Given the description of an element on the screen output the (x, y) to click on. 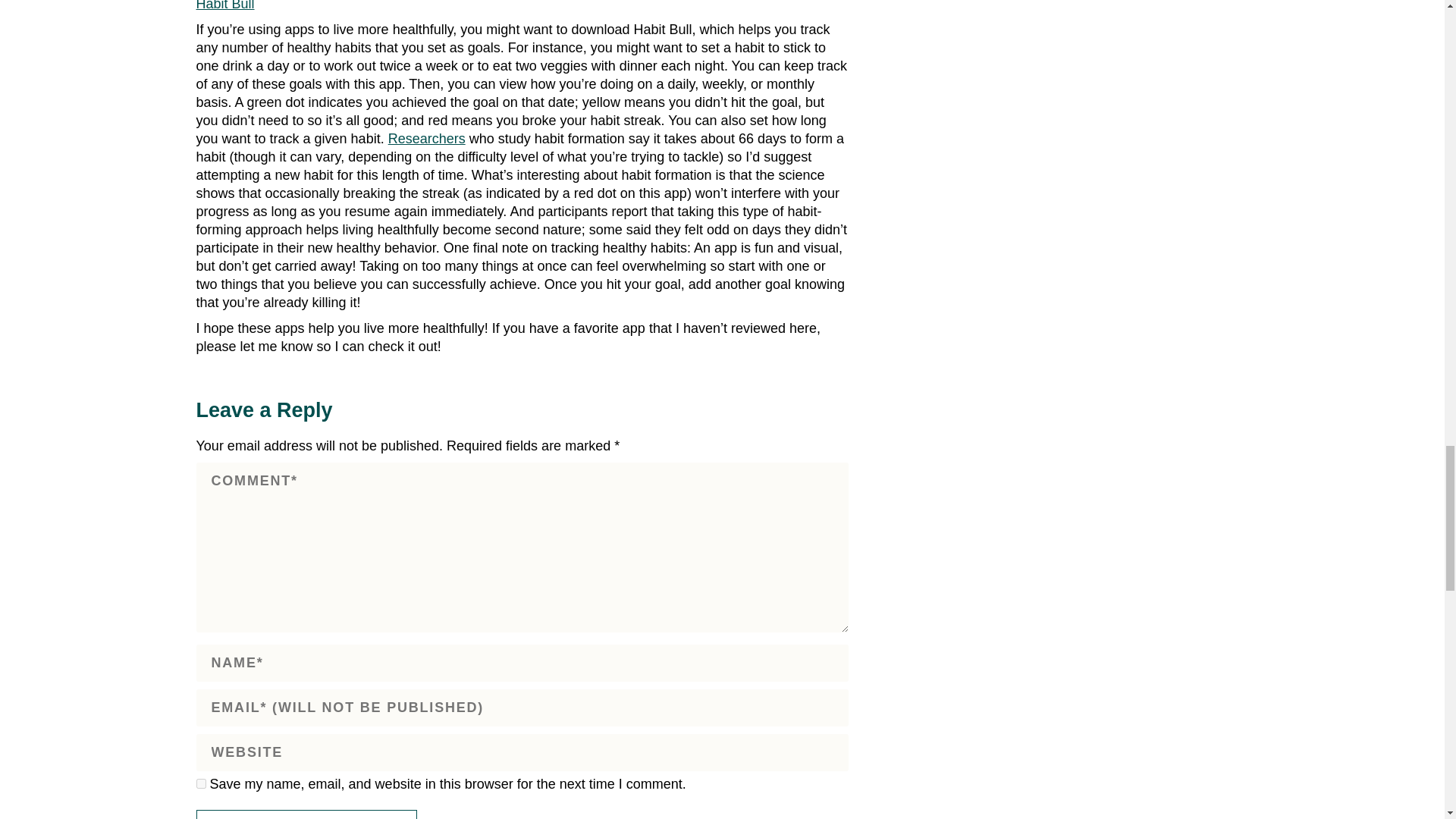
Habit Bull (224, 5)
SUBMIT COMMENT (305, 814)
yes (200, 783)
SUBMIT COMMENT (305, 814)
Researchers (426, 138)
